Given the description of an element on the screen output the (x, y) to click on. 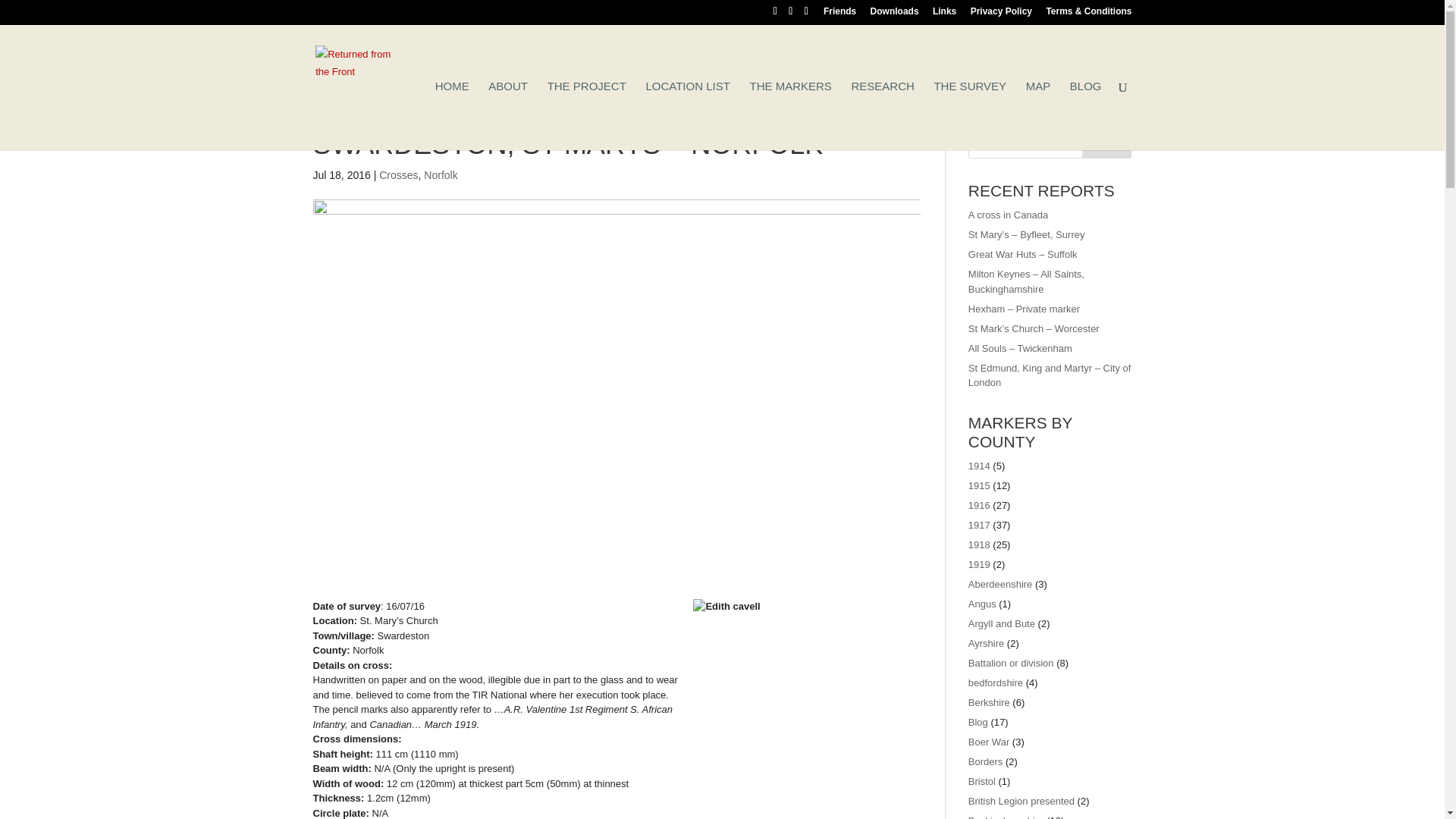
Privacy Policy (1001, 14)
Downloads (894, 14)
Search (1106, 142)
LOCATION LIST (687, 115)
Friends (840, 14)
Search (1106, 142)
Norfolk (440, 174)
A cross in Canada (1008, 214)
THE SURVEY (969, 115)
Crosses (397, 174)
